Given the description of an element on the screen output the (x, y) to click on. 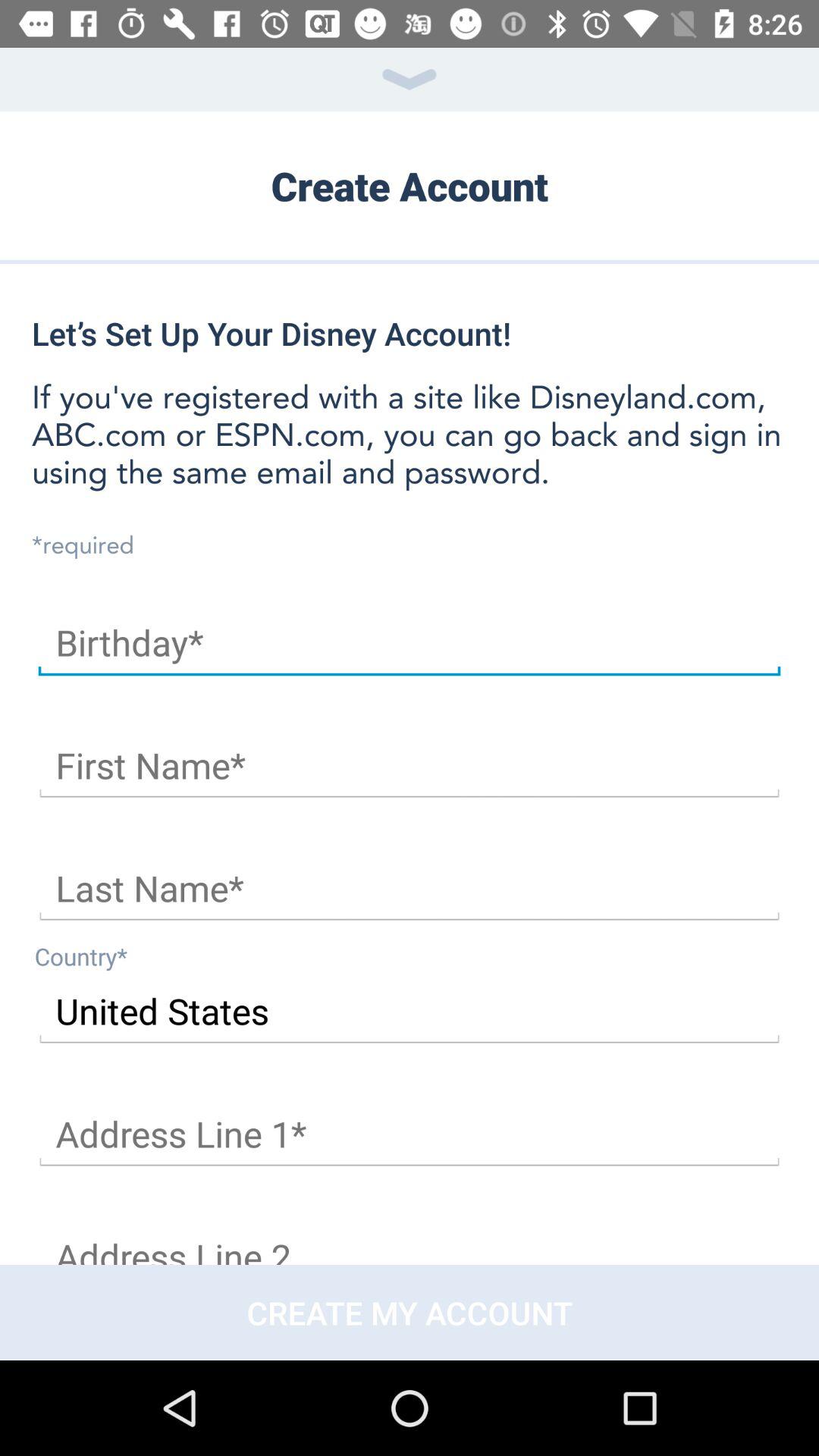
text box (409, 765)
